Given the description of an element on the screen output the (x, y) to click on. 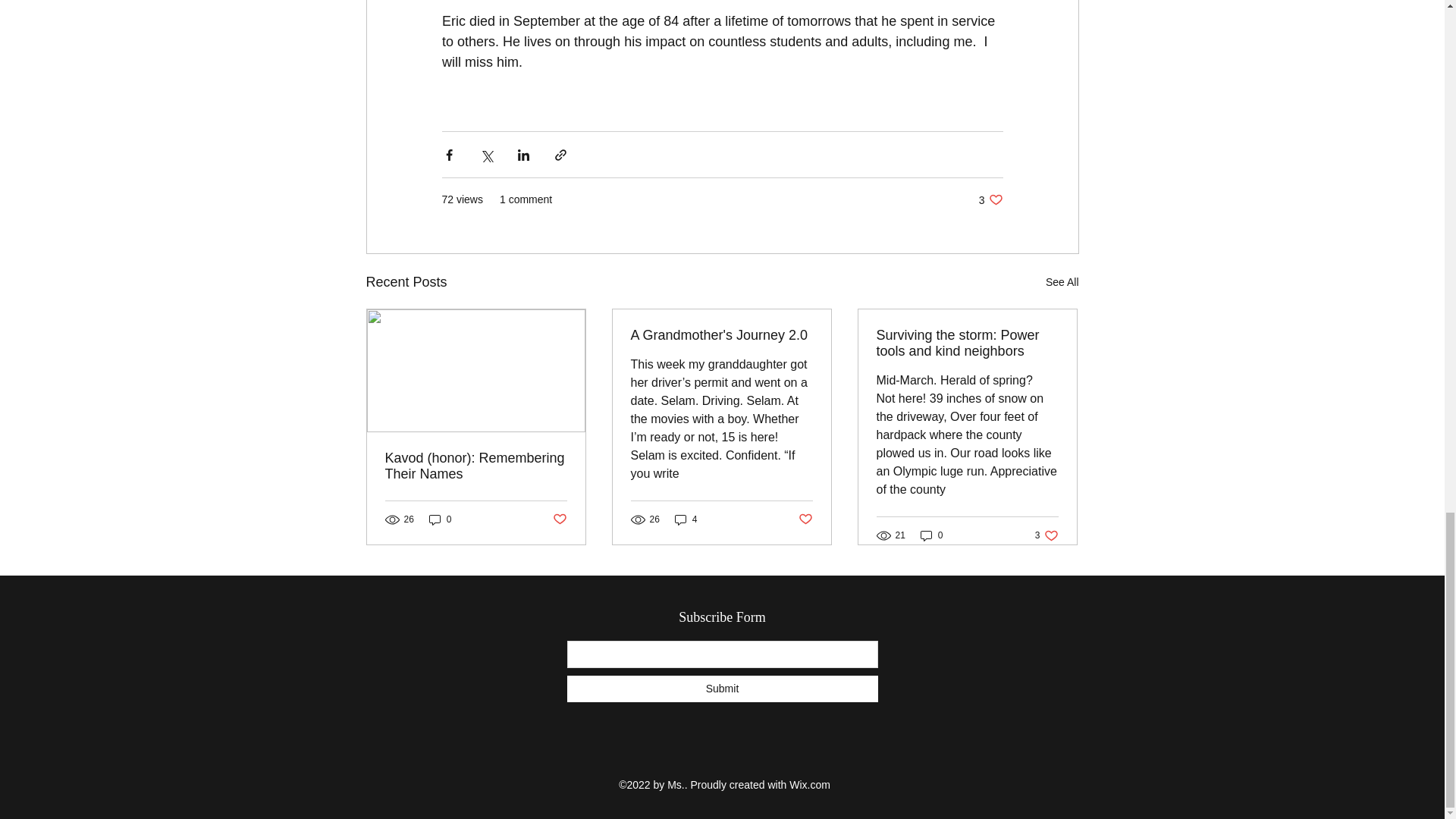
A Grandmother's Journey 2.0 (721, 335)
4 (685, 518)
0 (990, 199)
0 (931, 535)
Surviving the storm: Power tools and kind neighbors (440, 518)
See All (967, 343)
Post not marked as liked (1061, 282)
Submit (558, 519)
Post not marked as liked (722, 688)
